Given the description of an element on the screen output the (x, y) to click on. 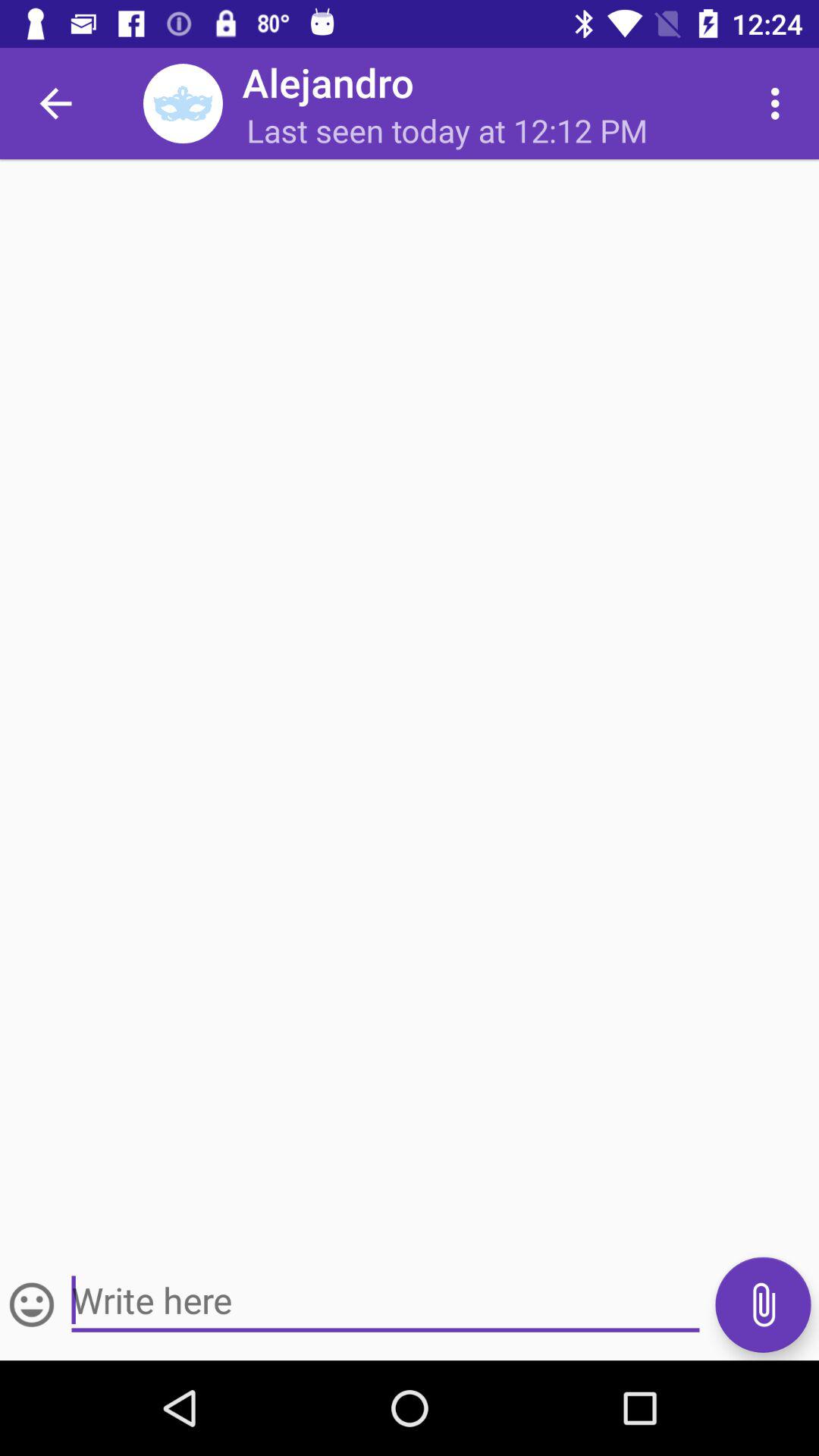
write option (31, 1304)
